Given the description of an element on the screen output the (x, y) to click on. 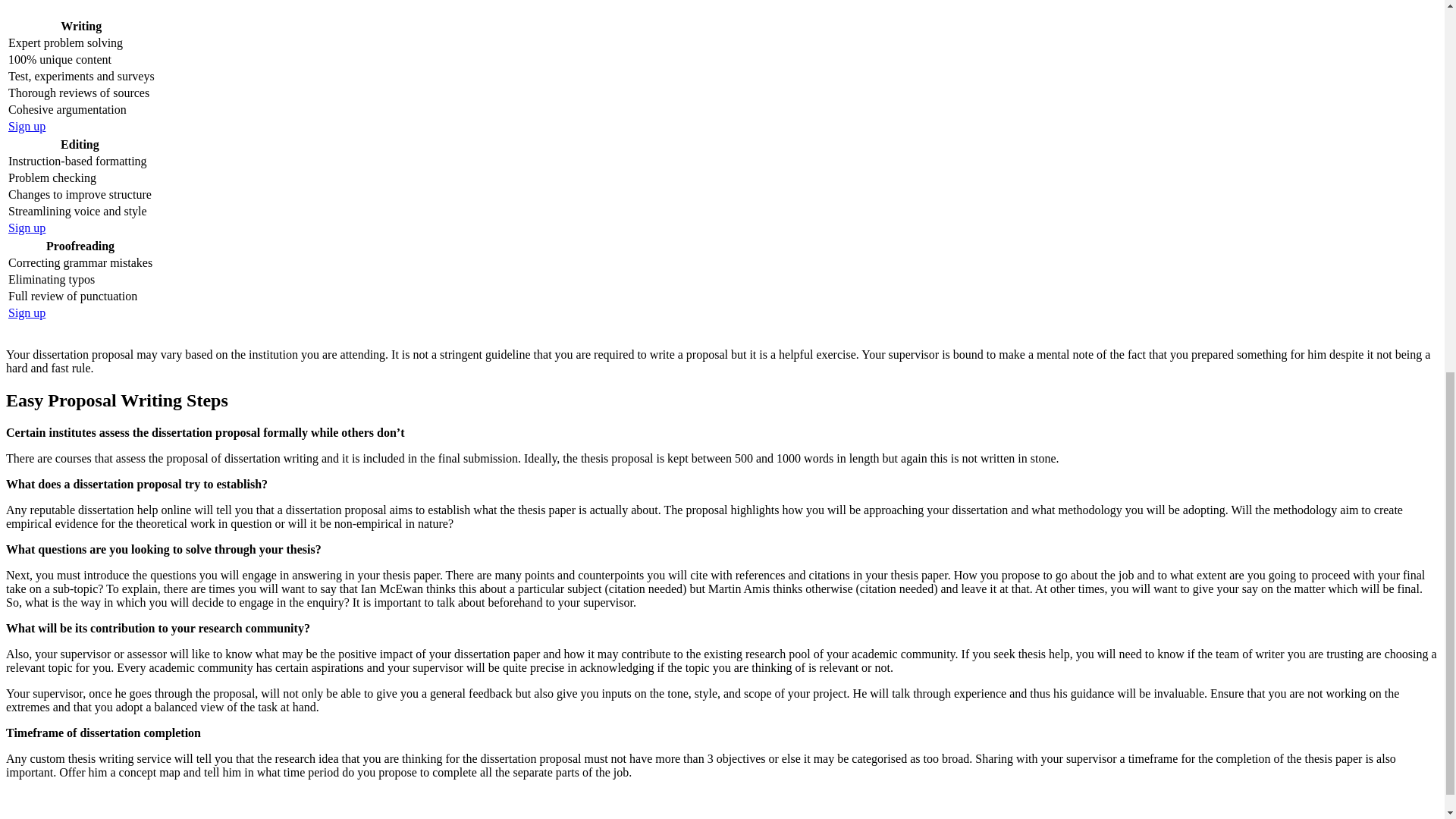
Sign up (26, 227)
Sign up (26, 125)
Sign up (26, 312)
